Given the description of an element on the screen output the (x, y) to click on. 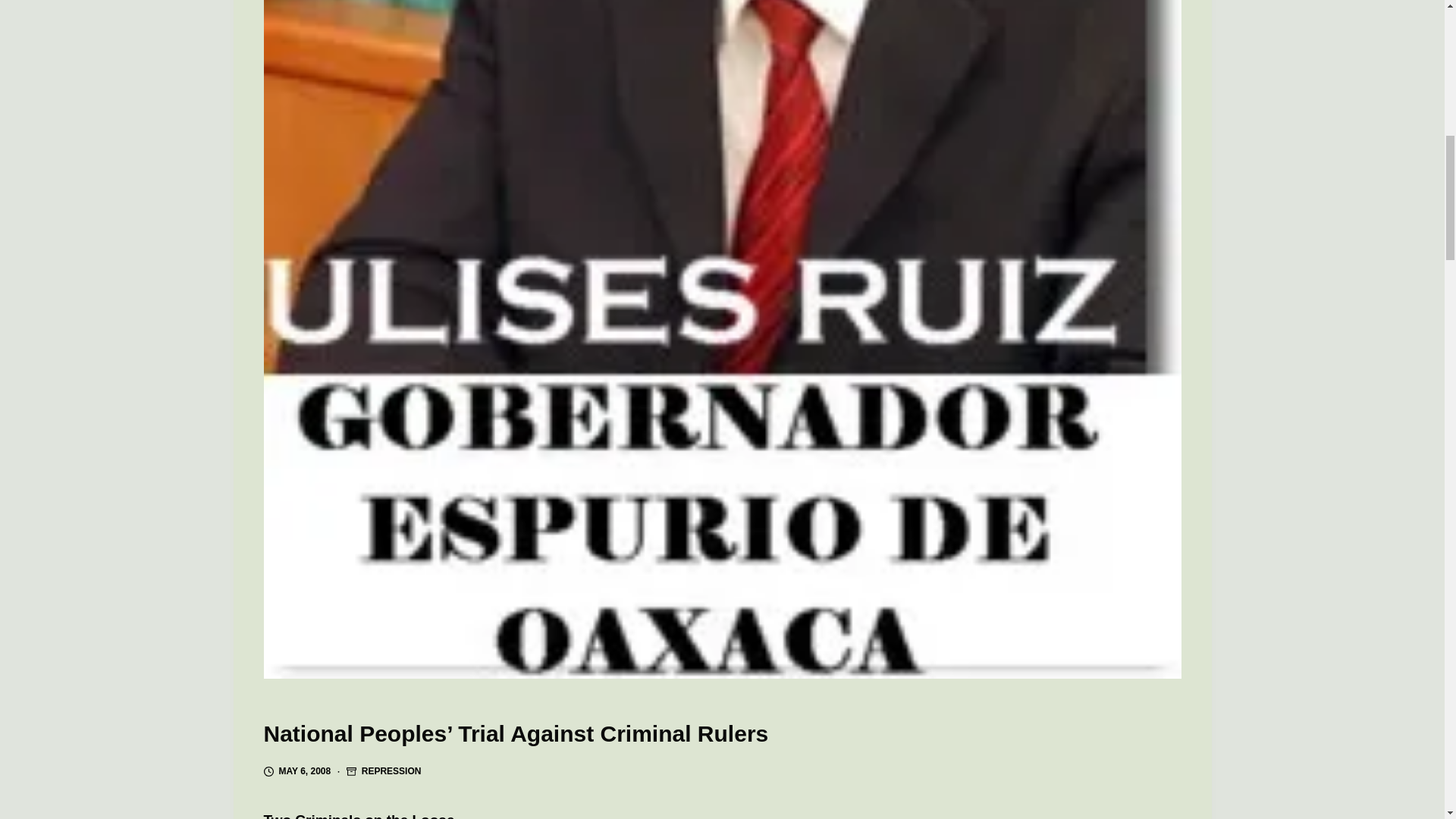
REPRESSION (391, 770)
